Given the description of an element on the screen output the (x, y) to click on. 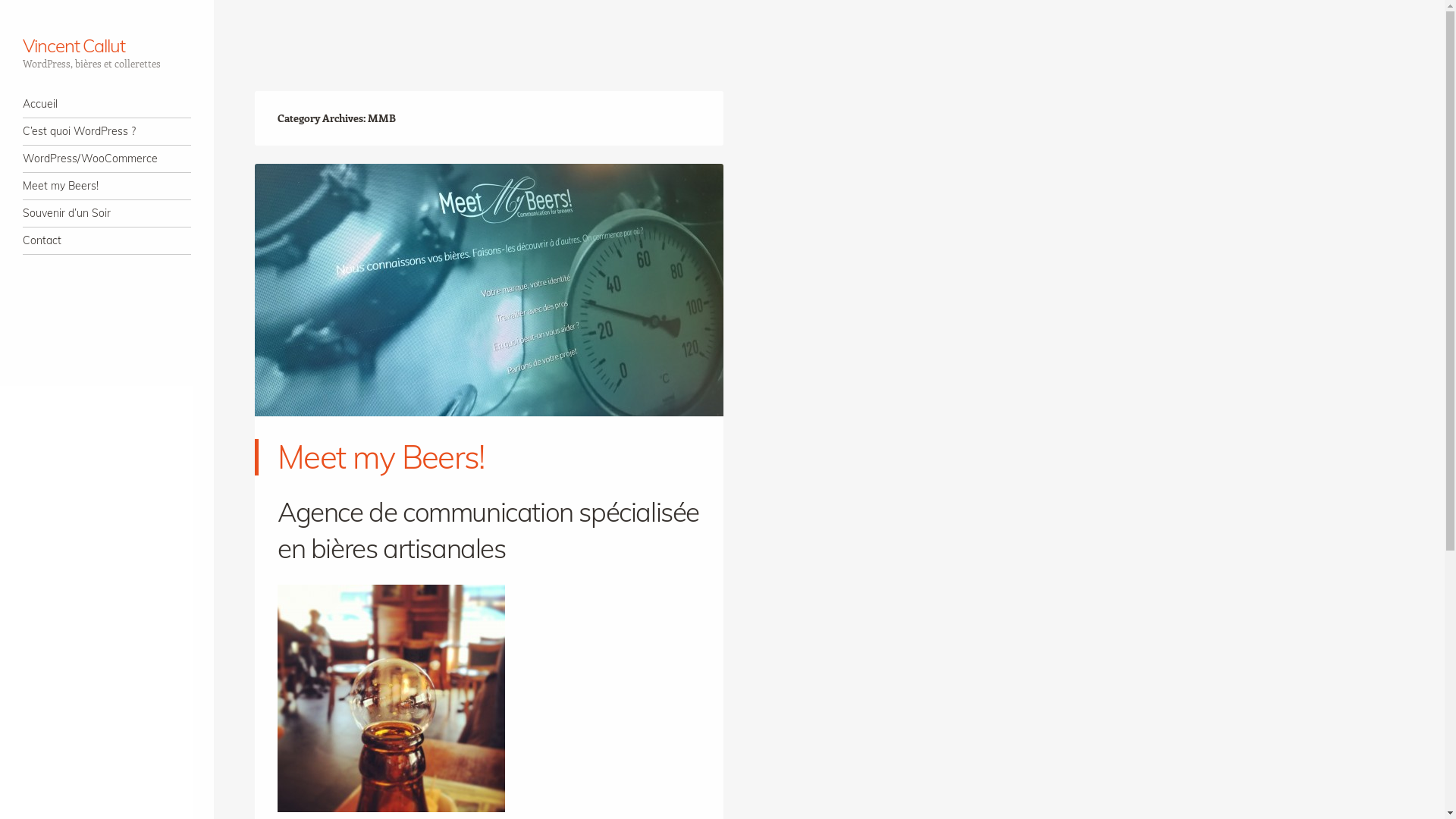
Accueil Element type: text (106, 104)
Meet my Beers! Element type: text (380, 456)
Permalink to Meet my Beers! Element type: hover (488, 429)
Meet my Beers! Element type: text (106, 185)
Skip to content Element type: text (59, 104)
WordPress/WooCommerce Element type: text (106, 158)
Vincent Callut Element type: text (73, 45)
Contact Element type: text (106, 240)
